Given the description of an element on the screen output the (x, y) to click on. 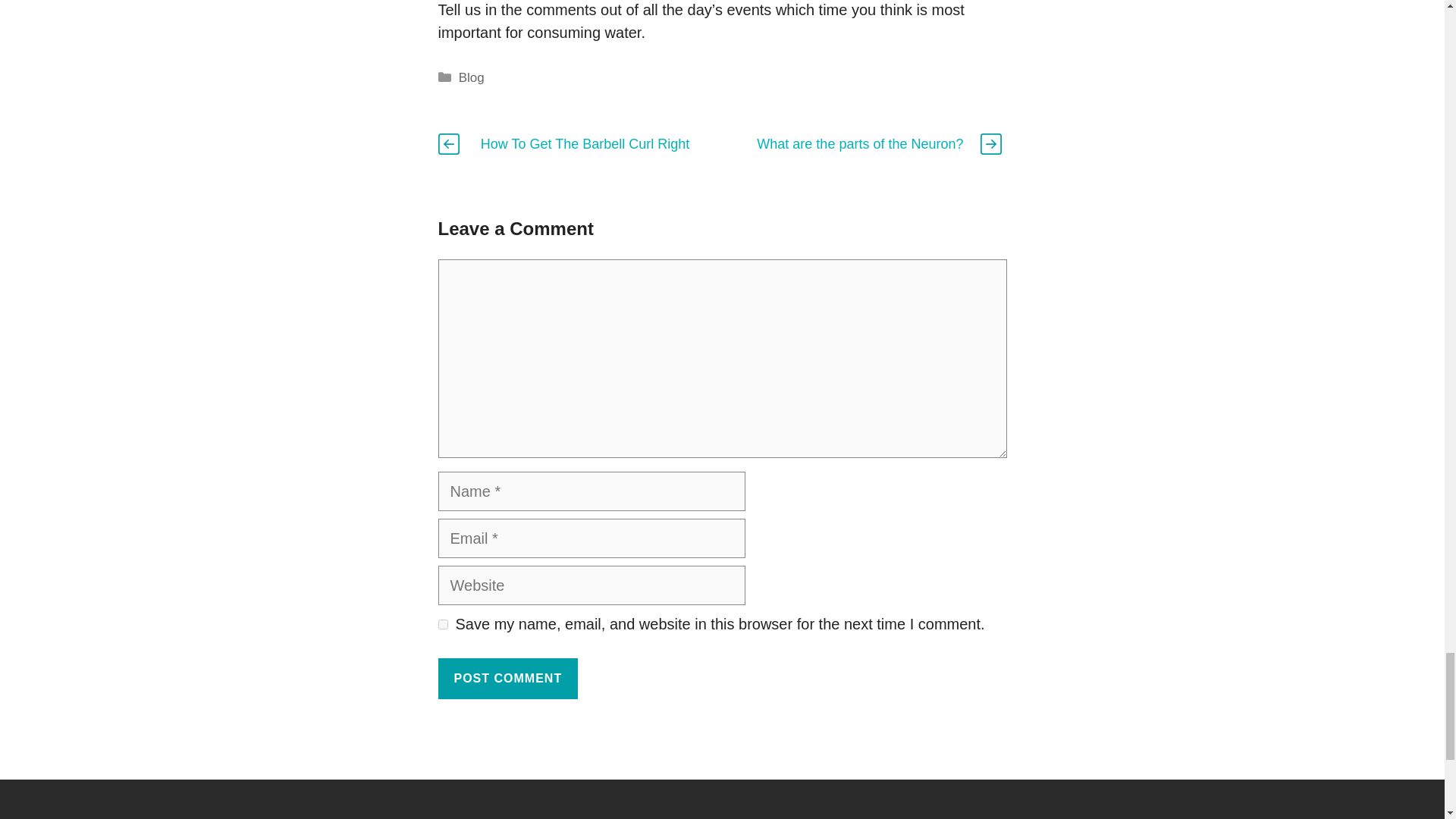
What are the parts of the Neuron? (859, 143)
yes (443, 624)
Blog (471, 77)
How To Get The Barbell Curl Right (584, 143)
Post Comment (508, 678)
Post Comment (508, 678)
